Given the description of an element on the screen output the (x, y) to click on. 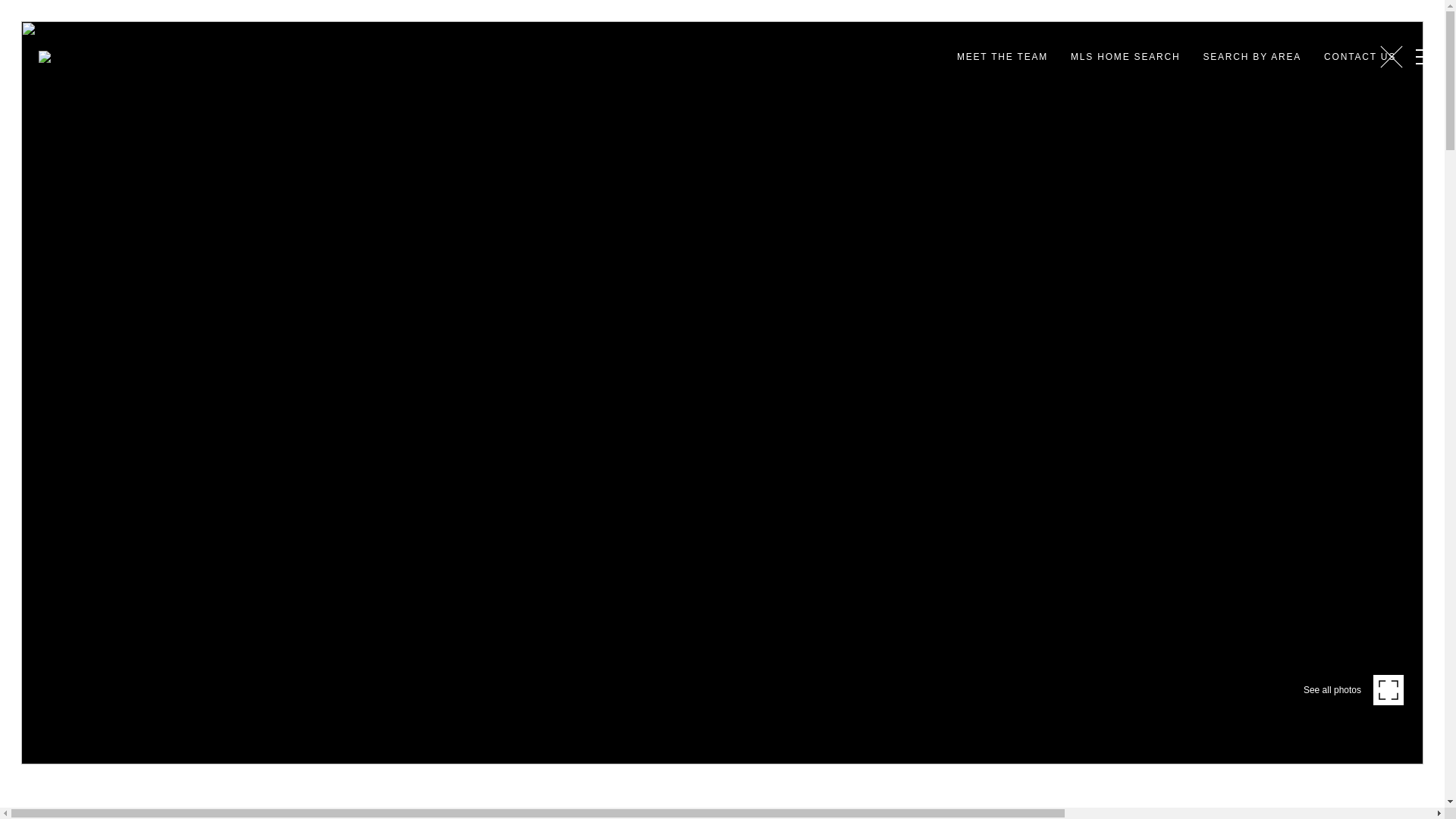
SEARCH BY AREA (1252, 56)
MLS HOME SEARCH (1125, 56)
Toggle navigation (1421, 56)
CONTACT US (1360, 56)
MEET THE TEAM (1001, 56)
